Given the description of an element on the screen output the (x, y) to click on. 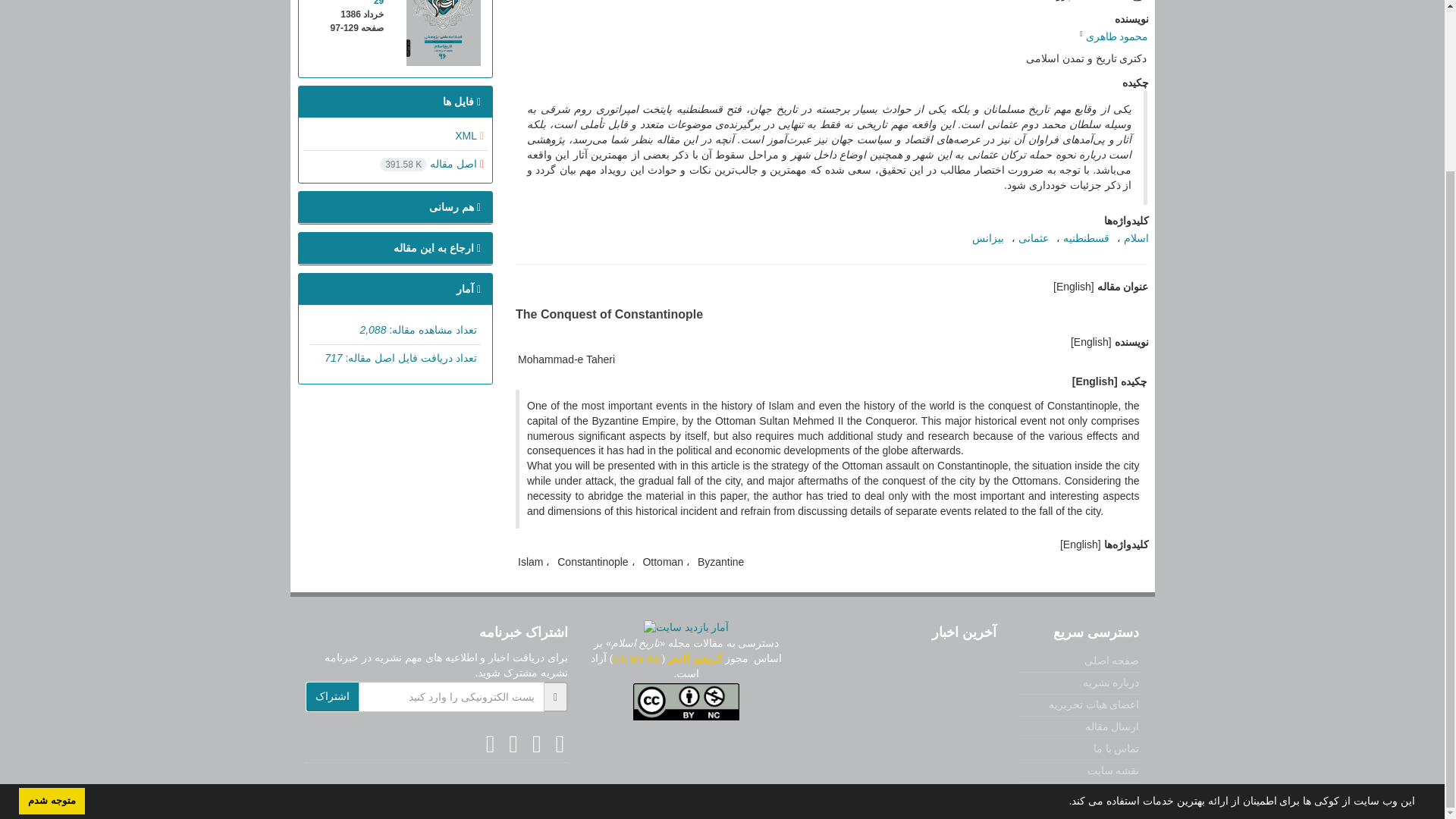
XML (468, 135)
